Given the description of an element on the screen output the (x, y) to click on. 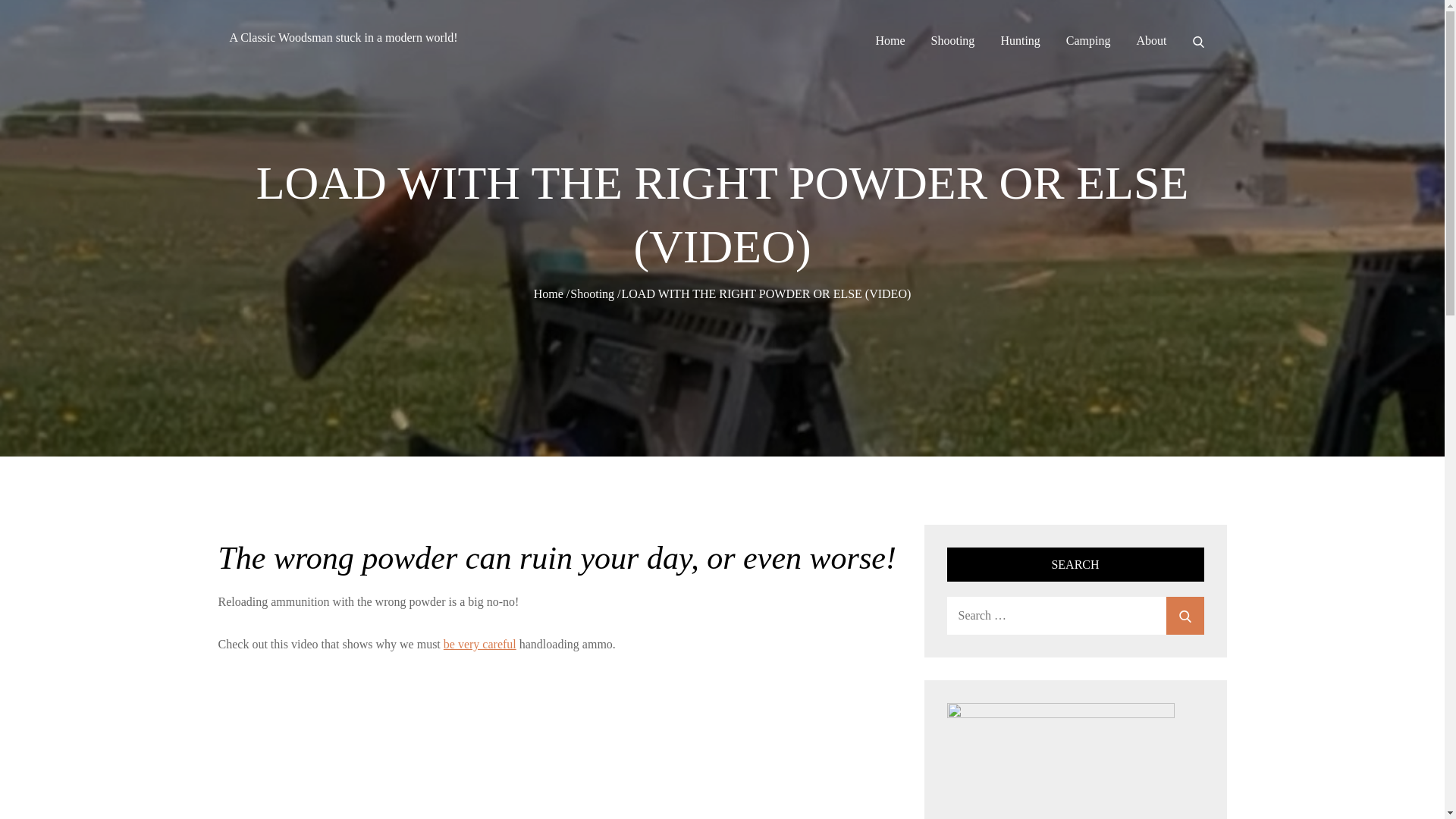
Camping (1087, 40)
Home (548, 293)
Shooting (592, 293)
Search (1185, 615)
Hunting (1019, 40)
Pistol powder blows up bolt action Mauser (529, 747)
be very careful (480, 644)
Shooting (953, 40)
